Given the description of an element on the screen output the (x, y) to click on. 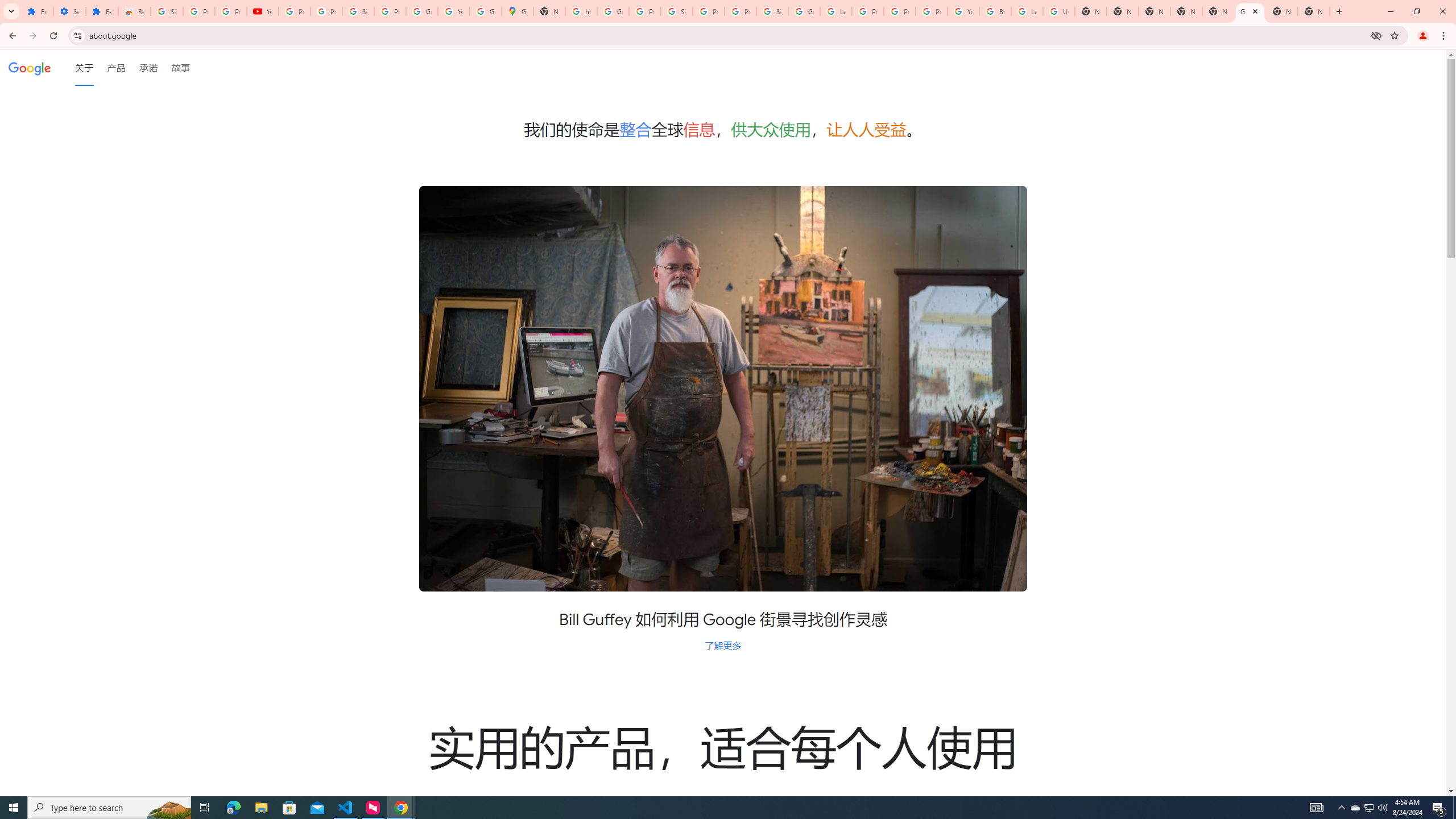
Extensions (37, 11)
New Tab (1313, 11)
YouTube (963, 11)
https://scholar.google.com/ (581, 11)
Privacy Help Center - Policies Help (868, 11)
New Tab (1154, 11)
